Given the description of an element on the screen output the (x, y) to click on. 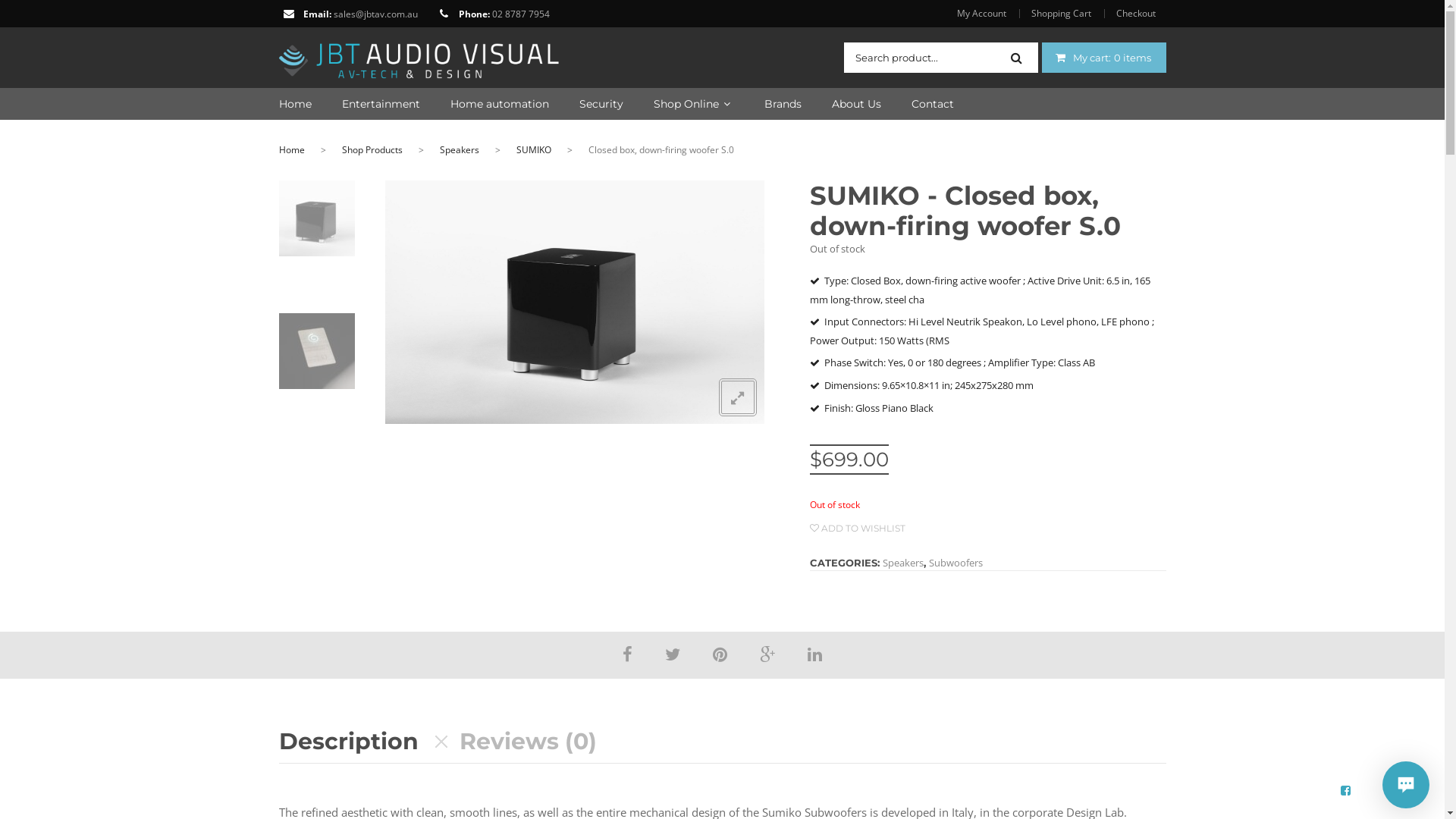
Shop Online Element type: text (678, 103)
Pinterest Element type: hover (719, 653)
JBT Audio Visual Element type: hover (419, 55)
SUMIKO Element type: text (532, 149)
Shop Products Element type: text (371, 149)
51BB3imu6xL._SL1400_ Element type: hover (574, 301)
Speakers Element type: text (459, 149)
My Account Element type: text (986, 13)
Home Element type: text (295, 103)
Reviews (0) Element type: text (527, 741)
Shopping Cart Element type: text (1060, 13)
sales@jbtav.com.au Element type: text (375, 13)
51BB3imu6xL._SL1400_ Element type: hover (318, 218)
Home Element type: text (291, 149)
61tvd0wzK+L._SL1400_ Element type: hover (318, 351)
Speakers Element type: text (902, 562)
Contact Element type: text (917, 103)
Subwoofers Element type: text (955, 562)
Home automation Element type: text (484, 103)
Google + Element type: hover (767, 653)
Security Element type: text (586, 103)
About Us Element type: text (840, 103)
Checkout Element type: text (1135, 13)
Brands Element type: text (767, 103)
LinkedIn Element type: hover (814, 653)
Twitter Element type: hover (672, 653)
Description Element type: text (348, 741)
Facebook Element type: hover (627, 653)
Entertainment Element type: text (364, 103)
ADD TO WISHLIST Element type: text (857, 527)
